Given the description of an element on the screen output the (x, y) to click on. 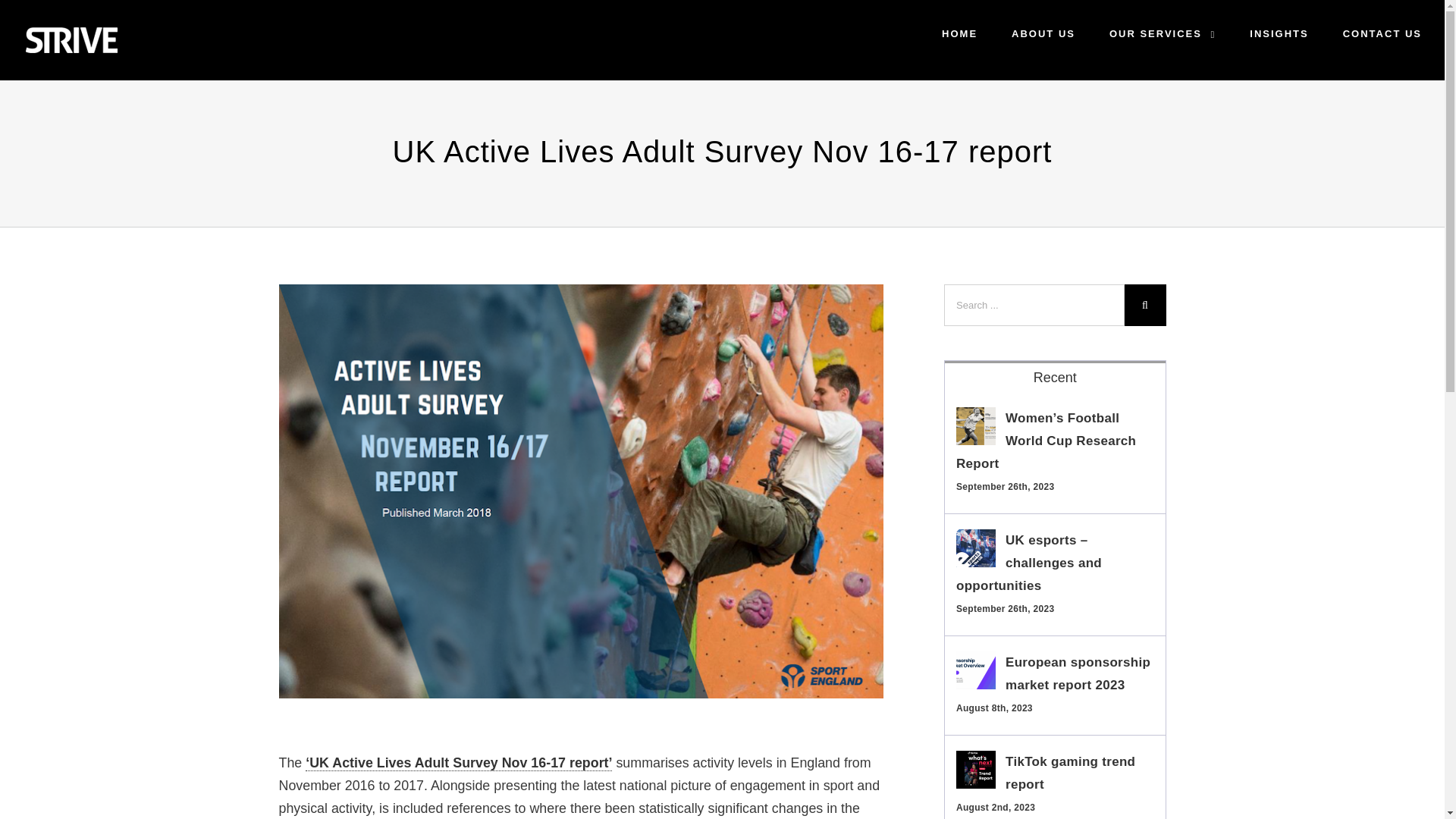
ABOUT US (1043, 32)
CONTACT US (1382, 32)
OUR SERVICES (1162, 32)
INSIGHTS (1278, 32)
